Given the description of an element on the screen output the (x, y) to click on. 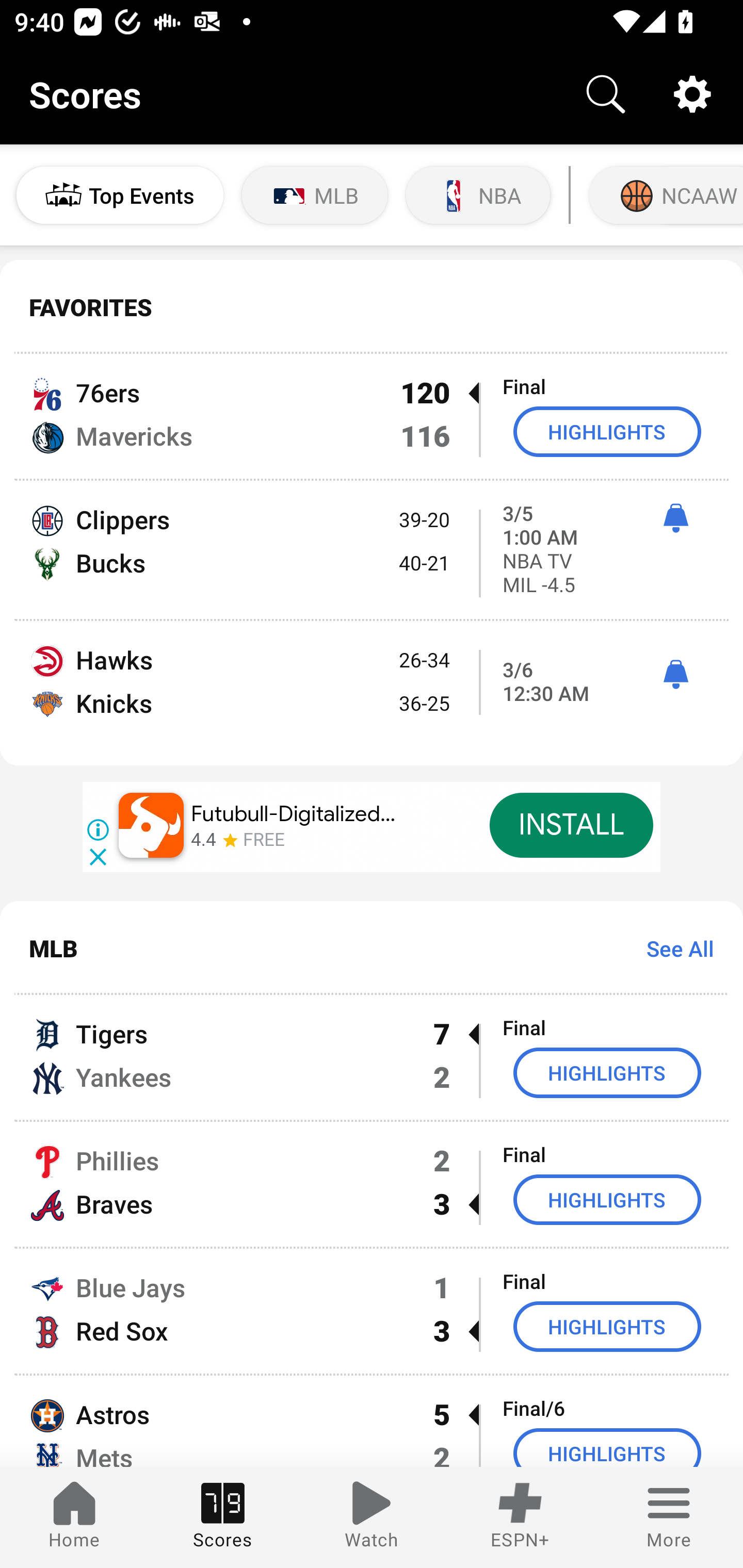
Search (605, 93)
Settings (692, 93)
 Top Events (119, 194)
MLB (314, 194)
NBA (477, 194)
NCAAW (664, 194)
FAVORITES (371, 307)
76ers 120  Final Mavericks 116 HIGHLIGHTS (371, 416)
HIGHLIGHTS (607, 431)
ì (675, 517)
Hawks 26-34 Knicks 36-25 3/6 12:30 AM ì (371, 692)
ì (675, 674)
INSTALL (570, 825)
Futubull-Digitalized… (293, 814)
MLB See All (371, 948)
See All (673, 947)
Tigers 7  Final Yankees 2 HIGHLIGHTS (371, 1057)
HIGHLIGHTS (607, 1072)
Phillies 2 Final Braves 3  HIGHLIGHTS (371, 1183)
HIGHLIGHTS (607, 1199)
Blue Jays 1 Final Red Sox 3  HIGHLIGHTS (371, 1310)
HIGHLIGHTS (607, 1326)
Astros 5  Final/6 Mets 2 HIGHLIGHTS (371, 1421)
HIGHLIGHTS (607, 1447)
Home (74, 1517)
Watch (371, 1517)
ESPN+ (519, 1517)
More (668, 1517)
